Given the description of an element on the screen output the (x, y) to click on. 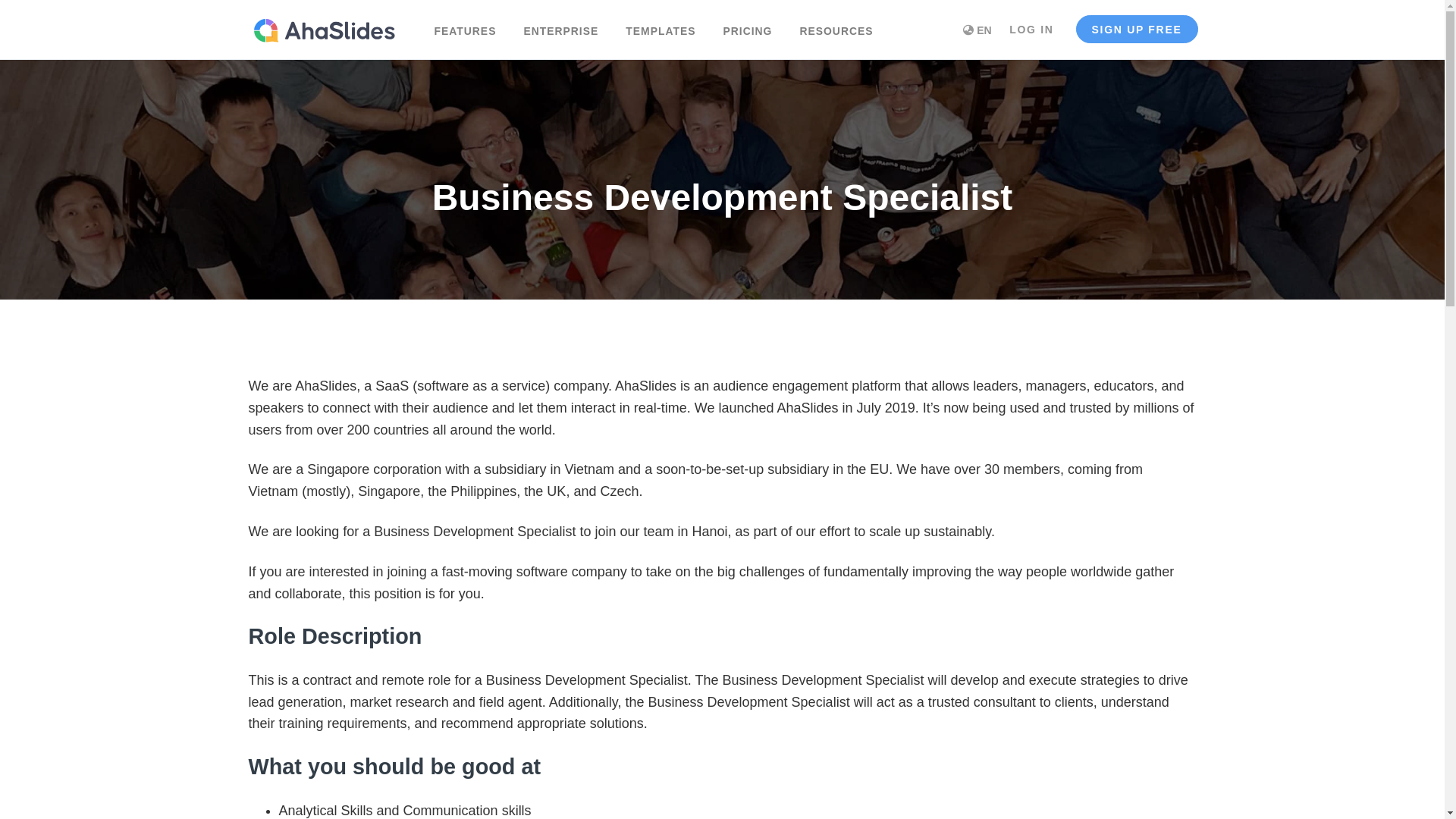
LOG IN (1030, 29)
ENTERPRISE (560, 28)
TEMPLATES (660, 28)
RESOURCES (836, 28)
PRICING (747, 28)
SIGN UP FREE (1136, 29)
FEATURES (464, 28)
